Given the description of an element on the screen output the (x, y) to click on. 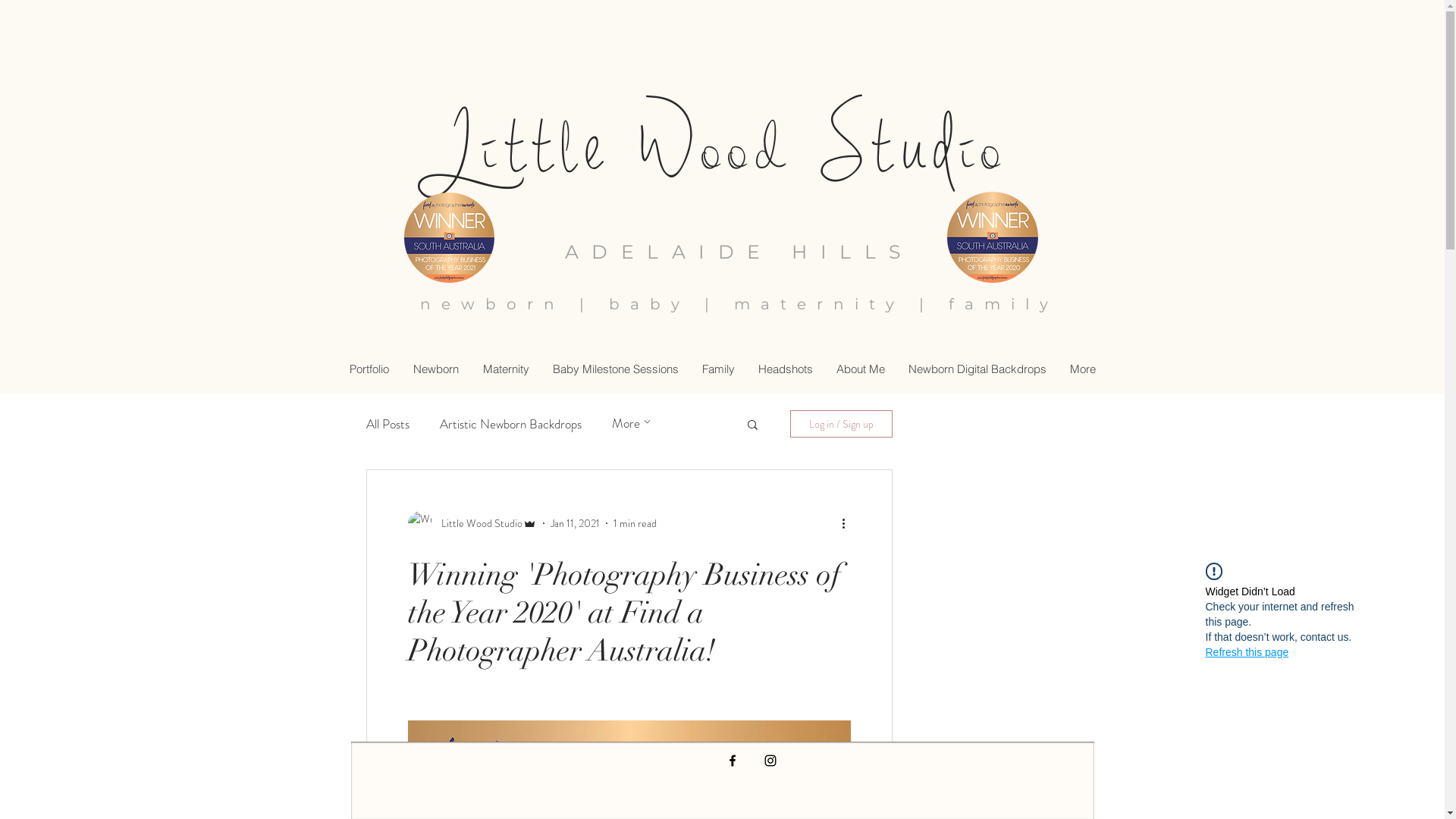
Log in / Sign up Element type: text (841, 423)
l Element type: text (573, 147)
Stud Element type: text (877, 145)
Headshots Element type: text (785, 369)
About Me Element type: text (859, 369)
Refresh this page Element type: text (1247, 651)
ood Element type: text (747, 147)
e W Element type: text (643, 145)
Portfolio Element type: text (369, 369)
Baby Milestone Sessions Element type: text (614, 369)
All Posts Element type: text (386, 423)
ADELAIDE HILLS Element type: text (738, 251)
Newborn Element type: text (435, 369)
tt Element type: text (534, 145)
Artistic Newborn Backdrops Element type: text (510, 423)
Maternity Element type: text (504, 369)
io Element type: text (986, 147)
Li Element type: text (460, 147)
Family Element type: text (718, 369)
Newborn Digital Backdrops Element type: text (976, 369)
